Given the description of an element on the screen output the (x, y) to click on. 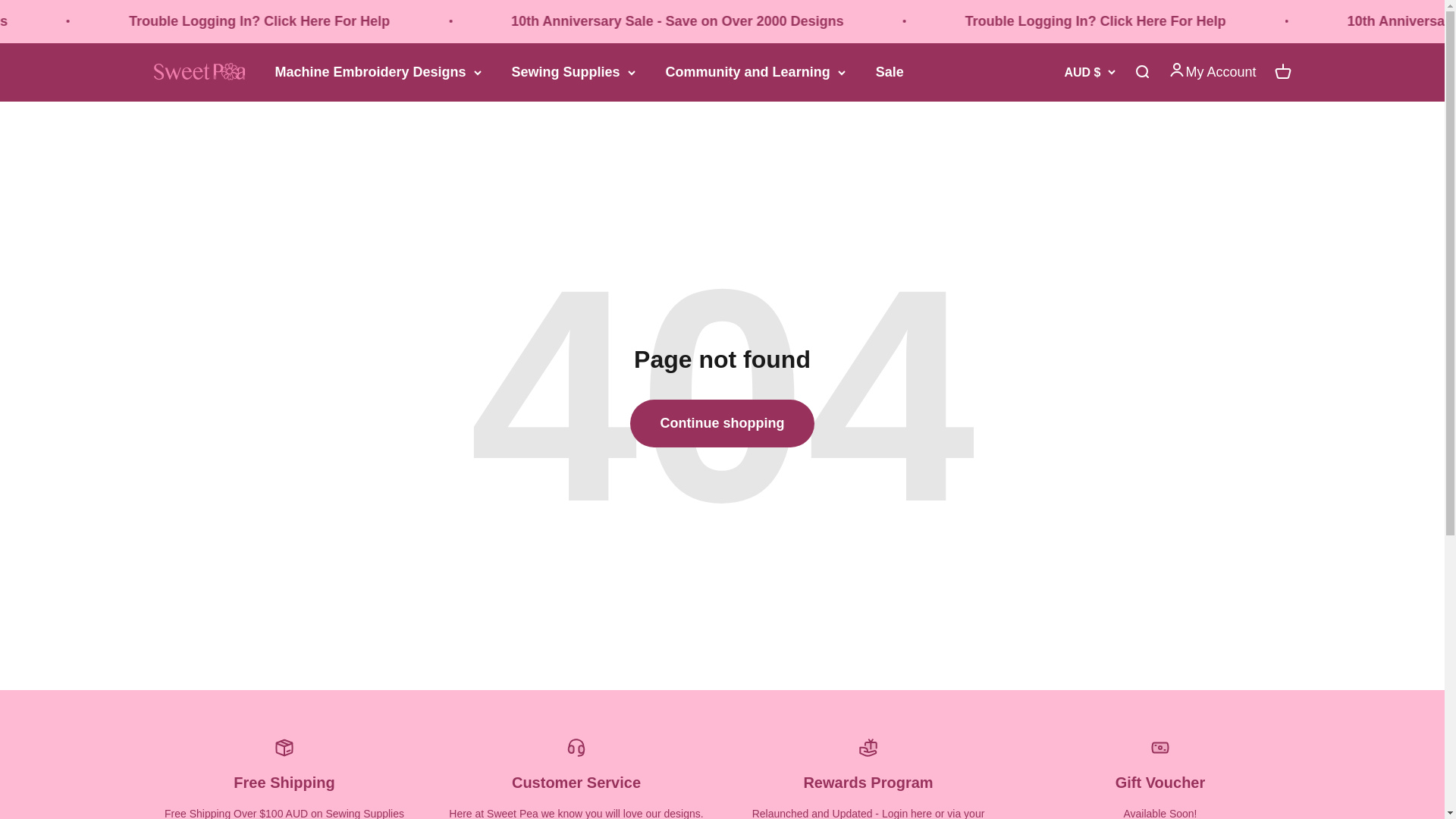
10th Anniversary Sale - Save on Over 2000 Designs (96, 20)
10th Anniversary Sale - Save on Over 2000 Designs (859, 20)
Trouble Logging In? Click Here For Help (1275, 20)
Trouble Logging In? Click Here For Help (443, 20)
